Given the description of an element on the screen output the (x, y) to click on. 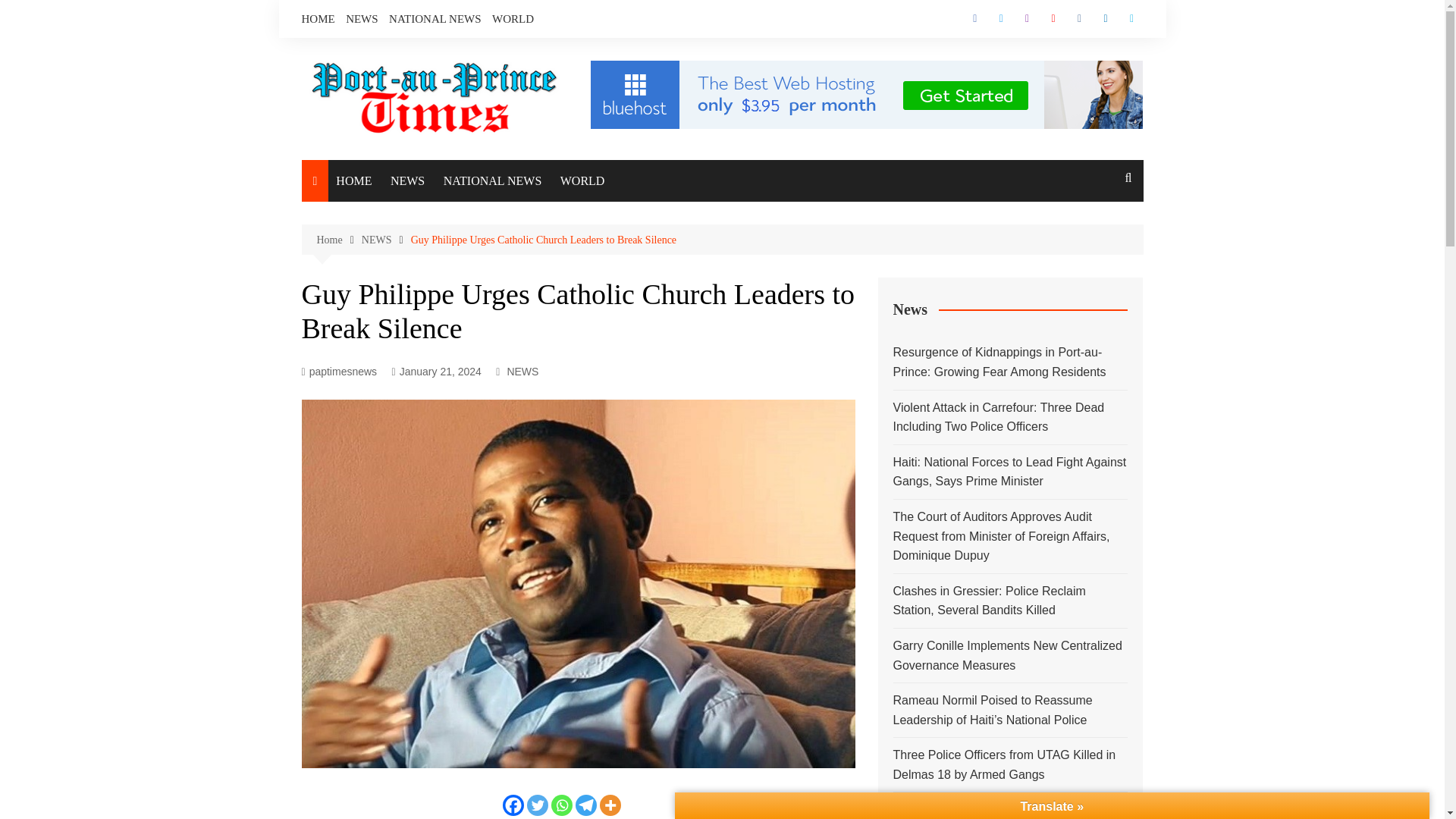
WORLD (513, 18)
Twitter (1000, 18)
NEWS (362, 18)
VK (1079, 18)
Instagram (1027, 18)
NATIONAL NEWS (434, 18)
Facebook (513, 804)
Whatsapp (561, 804)
More (610, 804)
HOME (317, 18)
Telegram (585, 804)
Vimeo (1130, 18)
Facebook (975, 18)
Guy Philippe Urges Catholic Church Leaders to Break Silence (543, 239)
paptimesnews (339, 371)
